Given the description of an element on the screen output the (x, y) to click on. 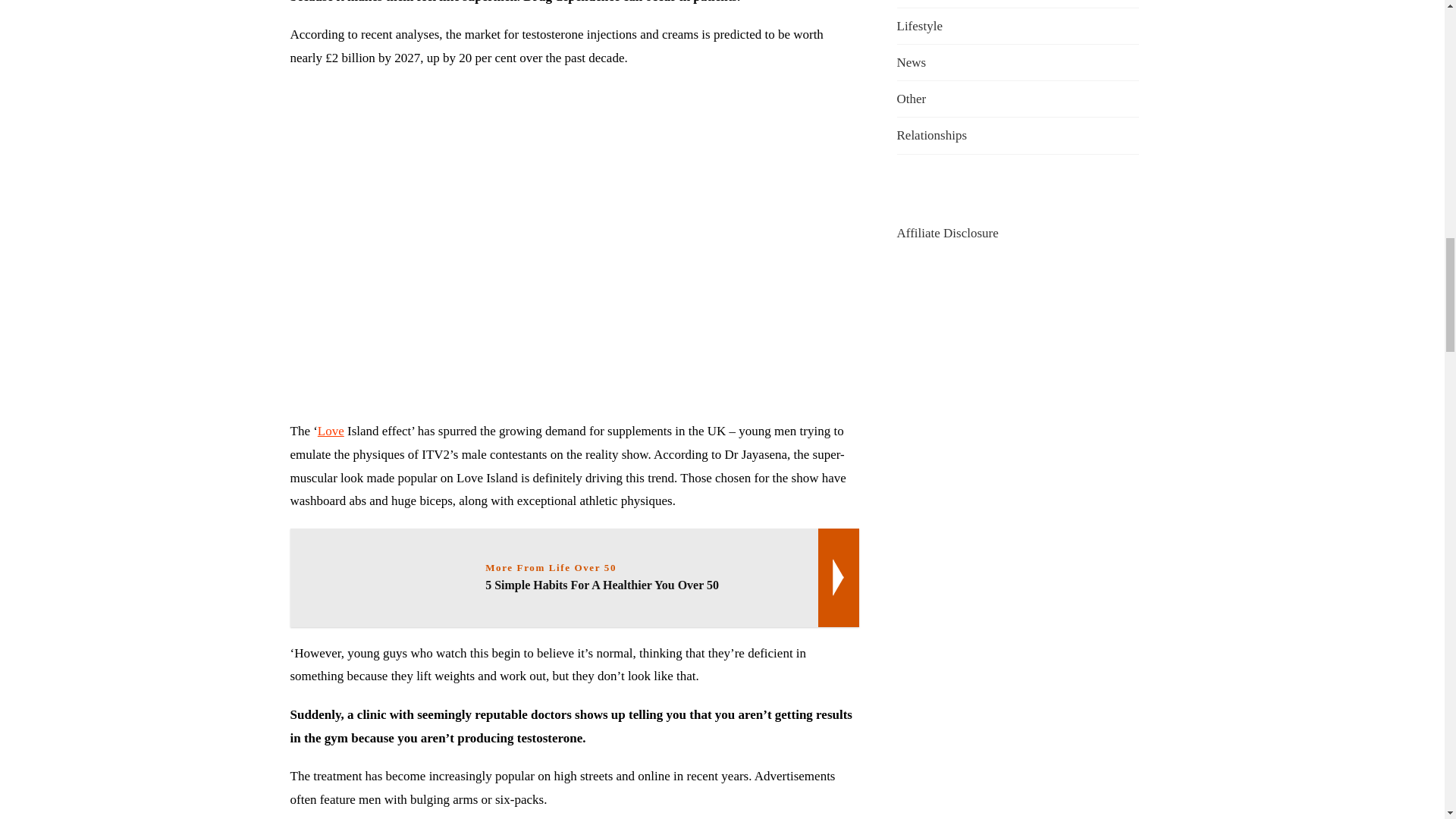
Love (330, 431)
Love (330, 431)
